Given the description of an element on the screen output the (x, y) to click on. 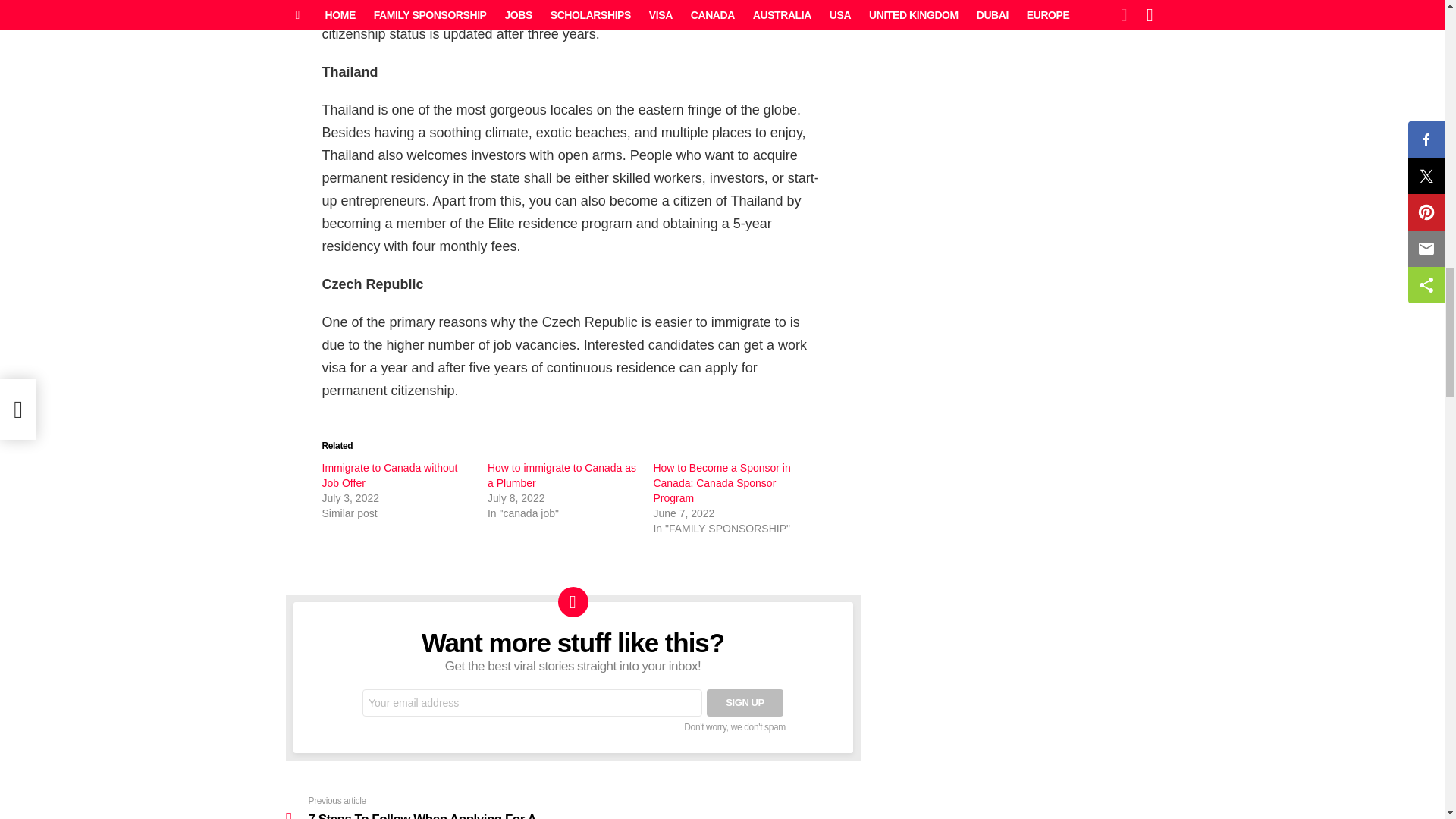
How to immigrate to Canada as a Plumber (561, 474)
Immigrate to Canada without Job Offer (389, 474)
Sign up (744, 702)
Sign up (744, 702)
How to Become a Sponsor in Canada: Canada Sponsor Program (721, 482)
Immigrate to Canada without Job Offer (389, 474)
How to immigrate to Canada as a Plumber (561, 474)
How to Become a Sponsor in Canada: Canada Sponsor Program (721, 482)
